Given the description of an element on the screen output the (x, y) to click on. 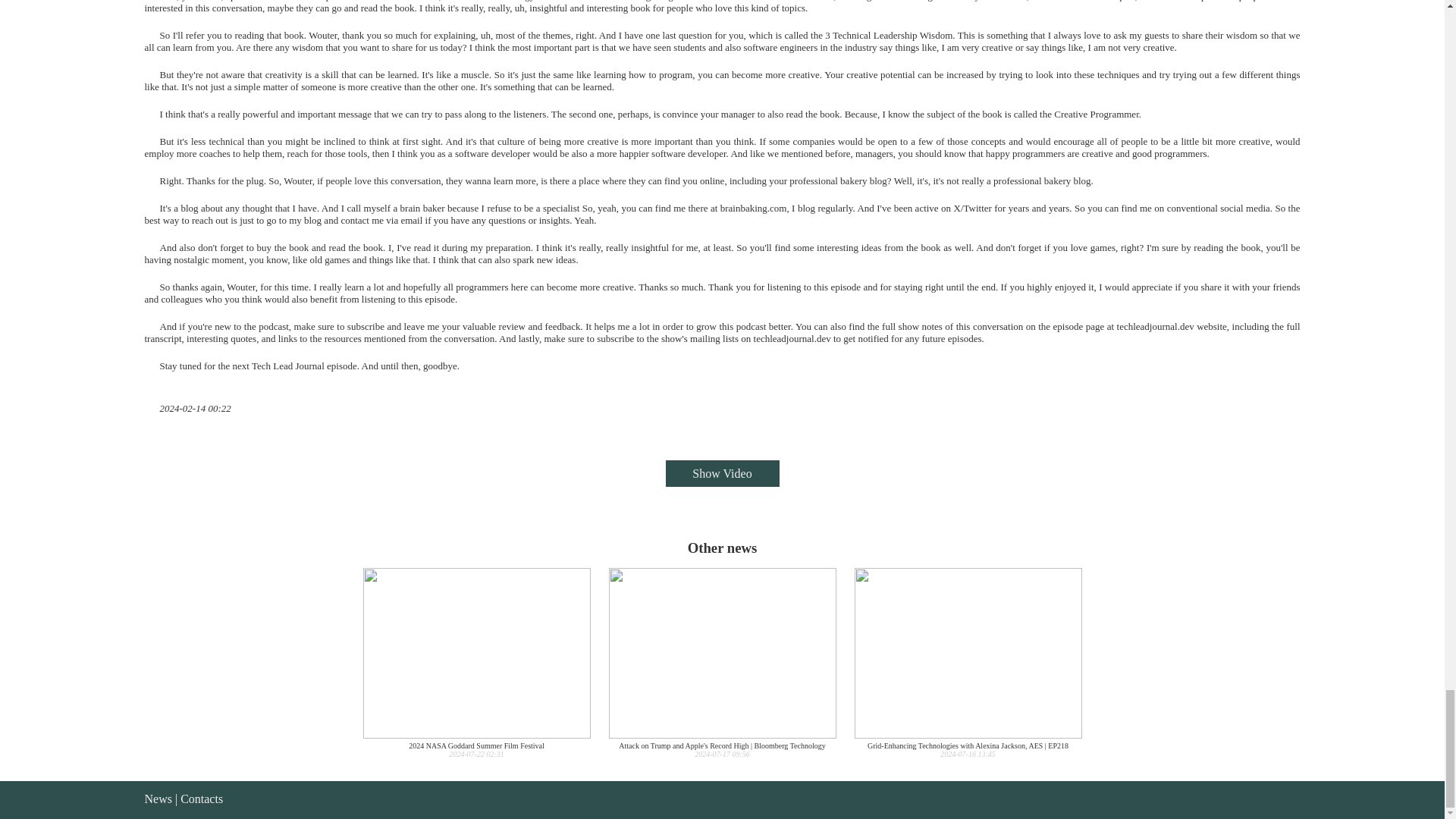
News (475, 663)
2024 NASA Goddard Summer Film Festival (157, 798)
Contacts (475, 663)
